Given the description of an element on the screen output the (x, y) to click on. 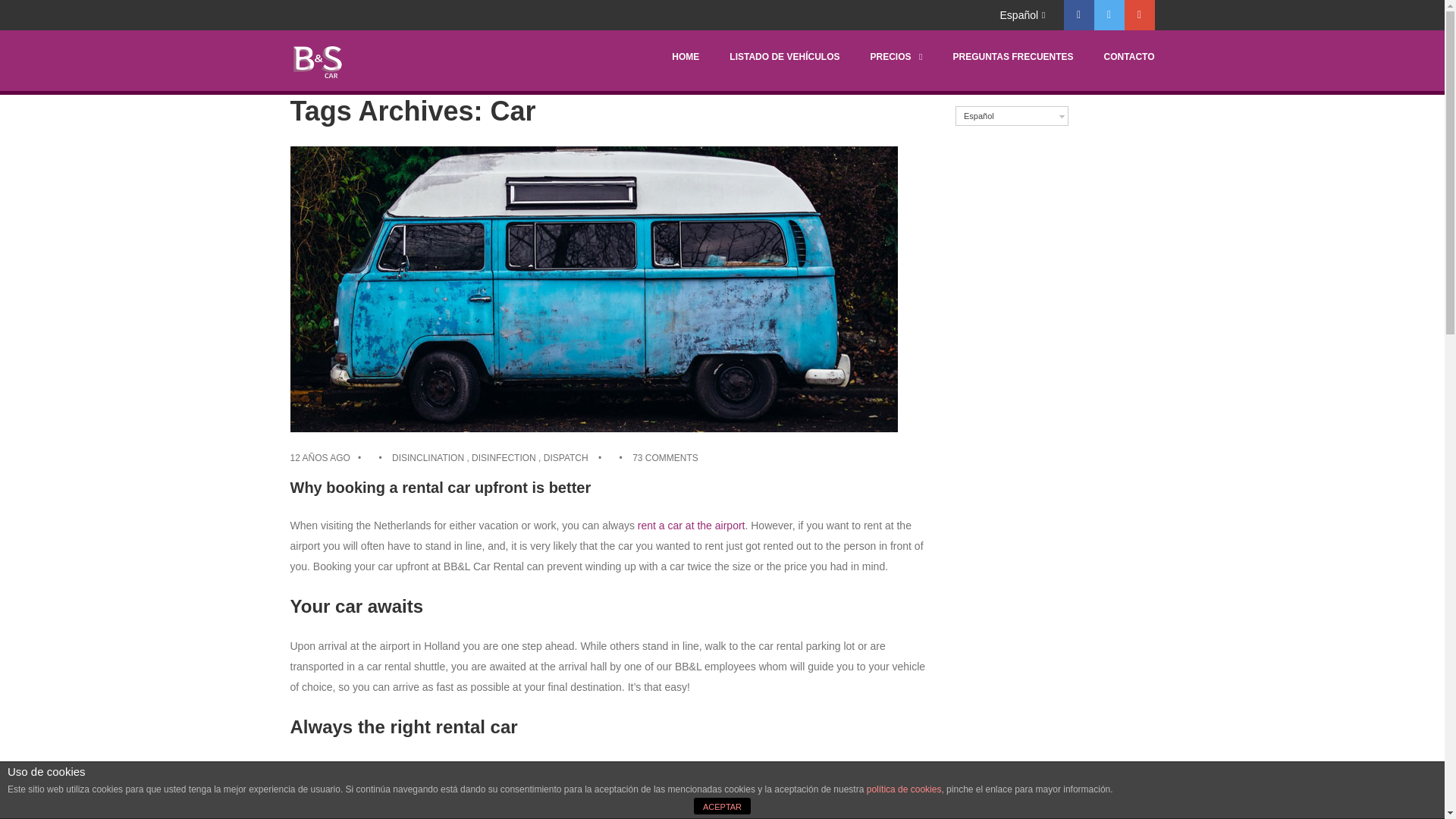
PRECIOS (895, 56)
73 COMMENTS (664, 457)
rent a car at the airport (691, 525)
Precios (1259, 137)
Contacto (1264, 182)
Preguntas frecuentes (1297, 160)
snow chains (777, 807)
Why booking a rental car upfront is better (440, 487)
DISINCLINATION (427, 457)
DISPATCH (565, 457)
Home (1256, 91)
PREGUNTAS FRECUENTES (1012, 56)
renting a child seat (687, 807)
DISINFECTION (503, 457)
CONTACTO (1128, 56)
